Given the description of an element on the screen output the (x, y) to click on. 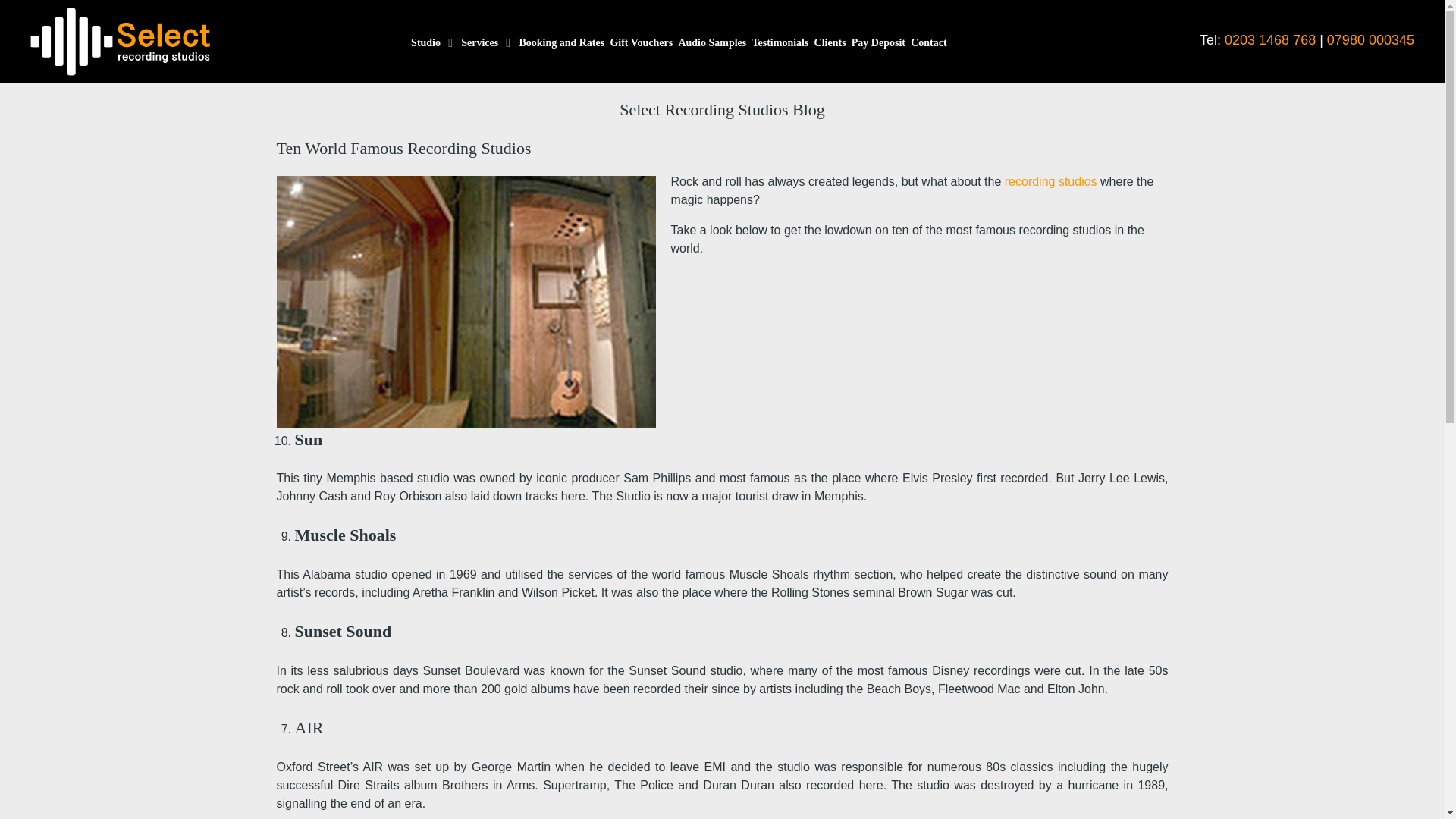
0203 1468 768 (1270, 39)
Audio Samples (711, 43)
Pay Deposit (878, 43)
Booking and Rates (561, 43)
Gift Vouchers (641, 43)
Testimonials (779, 43)
Audio Samples (711, 43)
Clients (829, 43)
Clients (829, 43)
Contact (928, 43)
Booking and Rates (561, 43)
Pay Deposit (878, 43)
Gift Vouchers (641, 43)
Testimonials (779, 43)
recording studios (1050, 181)
